Given the description of an element on the screen output the (x, y) to click on. 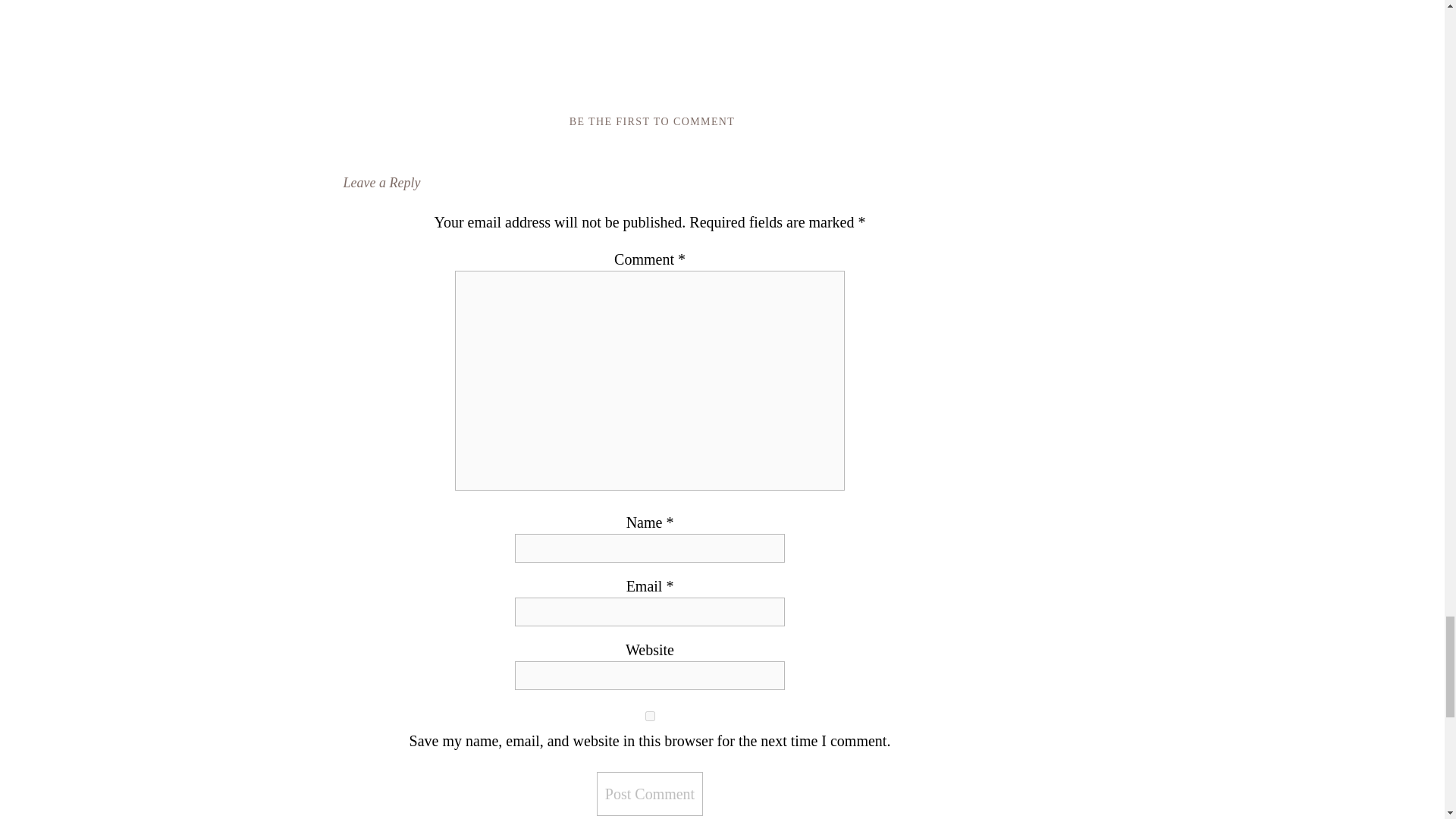
Post Comment (649, 793)
yes (650, 716)
